Given the description of an element on the screen output the (x, y) to click on. 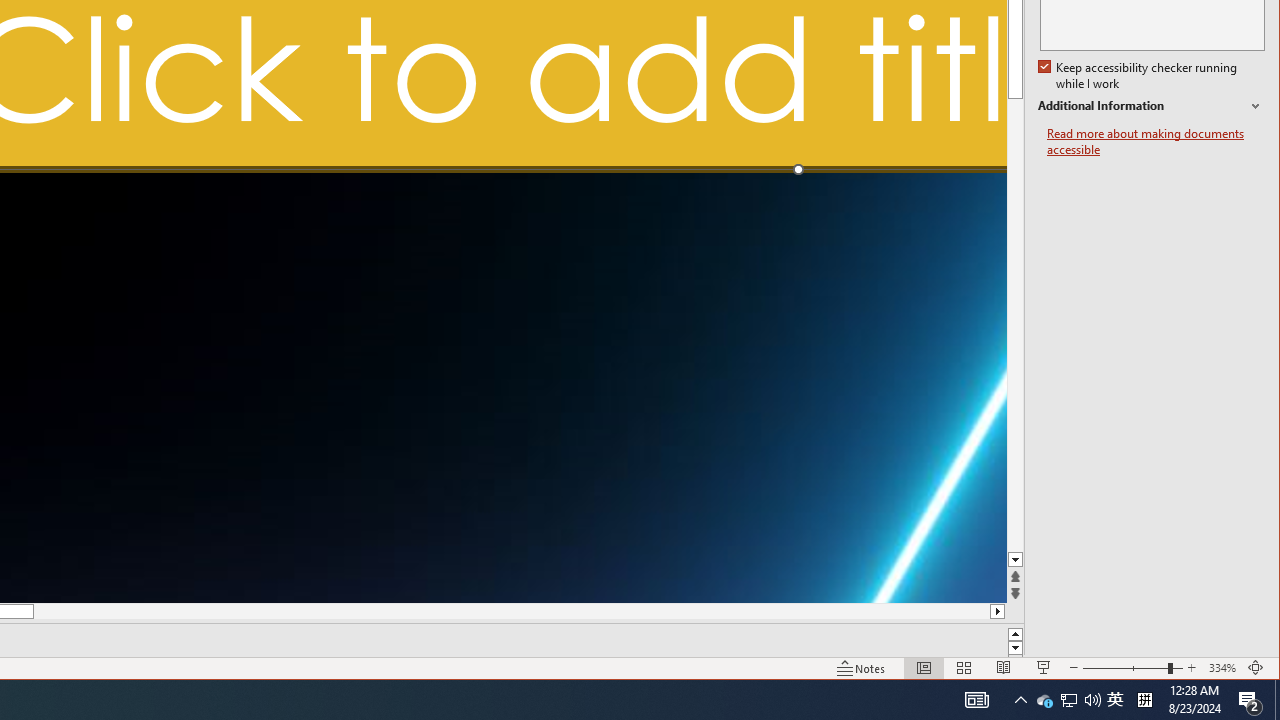
Zoom 334% (1222, 668)
Page down (1015, 342)
